Given the description of an element on the screen output the (x, y) to click on. 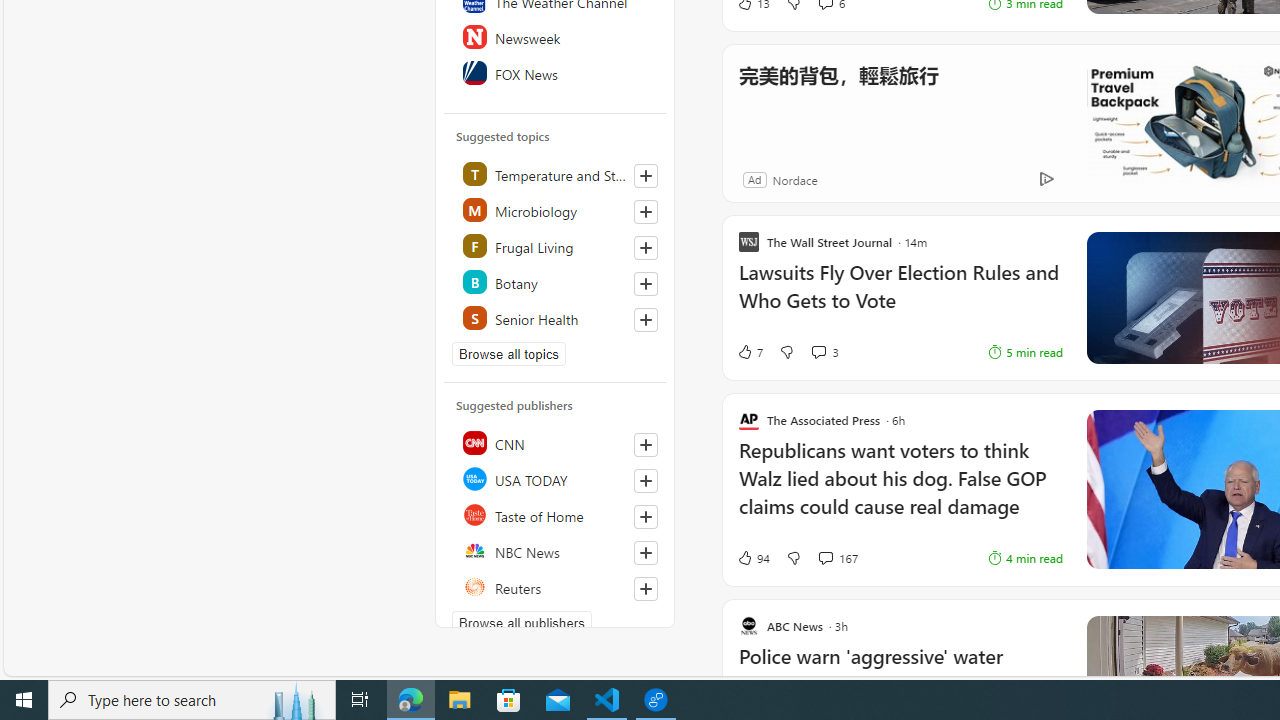
Class: highlight (556, 317)
Newsweek (556, 36)
Follow this source (645, 588)
USA TODAY (556, 478)
Lawsuits Fly Over Election Rules and Who Gets to Vote (900, 296)
Browse all topics (509, 353)
Follow this topic (645, 319)
CNN (556, 442)
View comments 167 Comment (837, 557)
Browse all publishers (521, 623)
Taste of Home (556, 514)
Follow this source (645, 588)
